Given the description of an element on the screen output the (x, y) to click on. 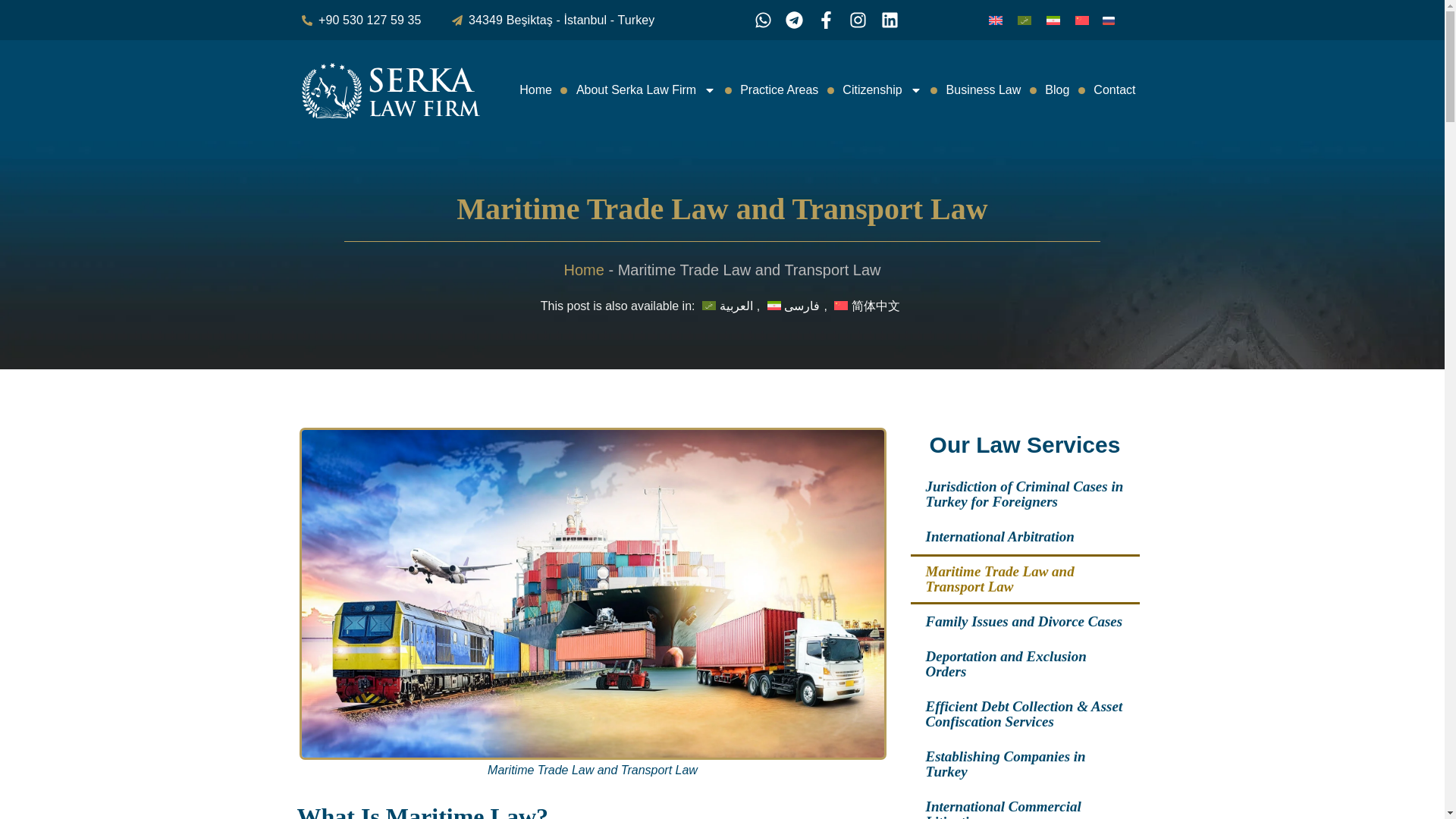
About Serka Law Firm (646, 89)
Contact (1114, 89)
Blog (1056, 89)
Business Law (984, 89)
Home (584, 269)
Facebook Page (829, 19)
Serka Law Firm Homepage (390, 90)
Instagram Page (861, 19)
Linkedin Page (893, 19)
Citizenship (881, 89)
WhatsApp contact (767, 19)
Serka Law Russian Page (1108, 19)
Telegram Contact (798, 19)
Home (535, 89)
Practice Areas (778, 89)
